Given the description of an element on the screen output the (x, y) to click on. 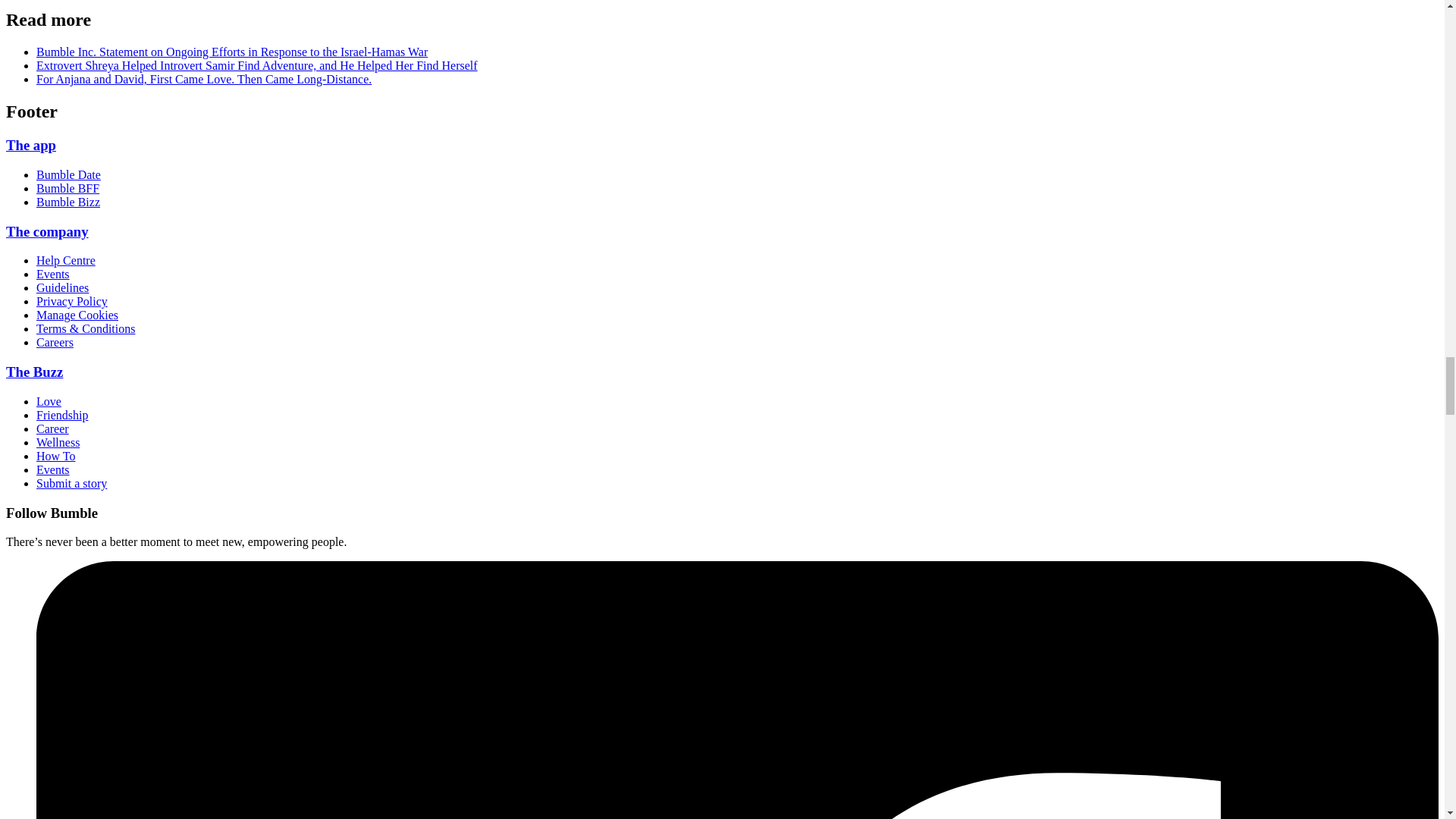
Bumble BFF (67, 187)
Events (52, 273)
Bumble Date (68, 174)
Bumble Bizz (68, 201)
Manage Cookies (76, 314)
The company (46, 231)
The app (30, 145)
Privacy Policy (71, 300)
Guidelines (62, 287)
Help Centre (66, 259)
